Given the description of an element on the screen output the (x, y) to click on. 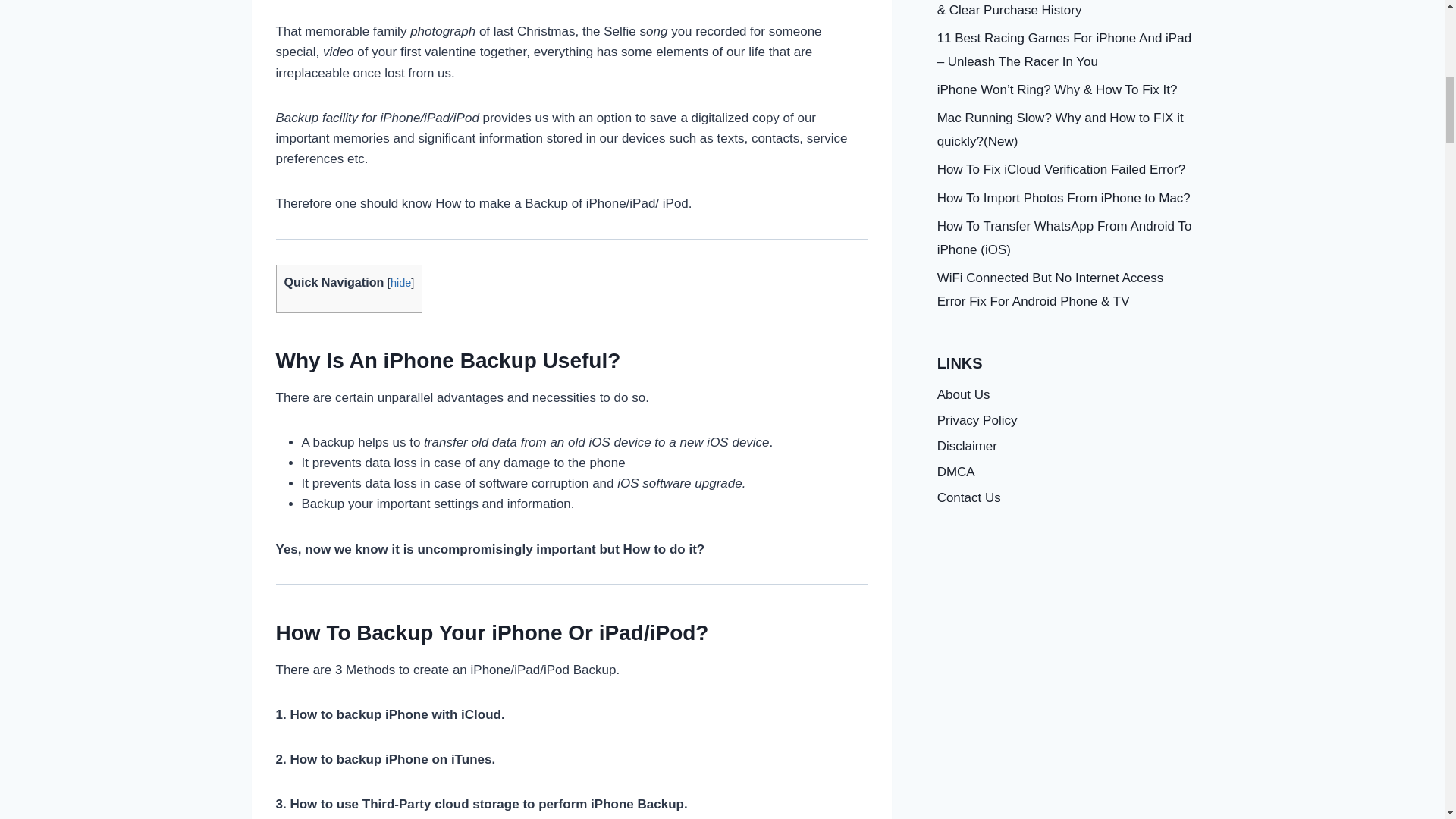
hide (400, 282)
